Given the description of an element on the screen output the (x, y) to click on. 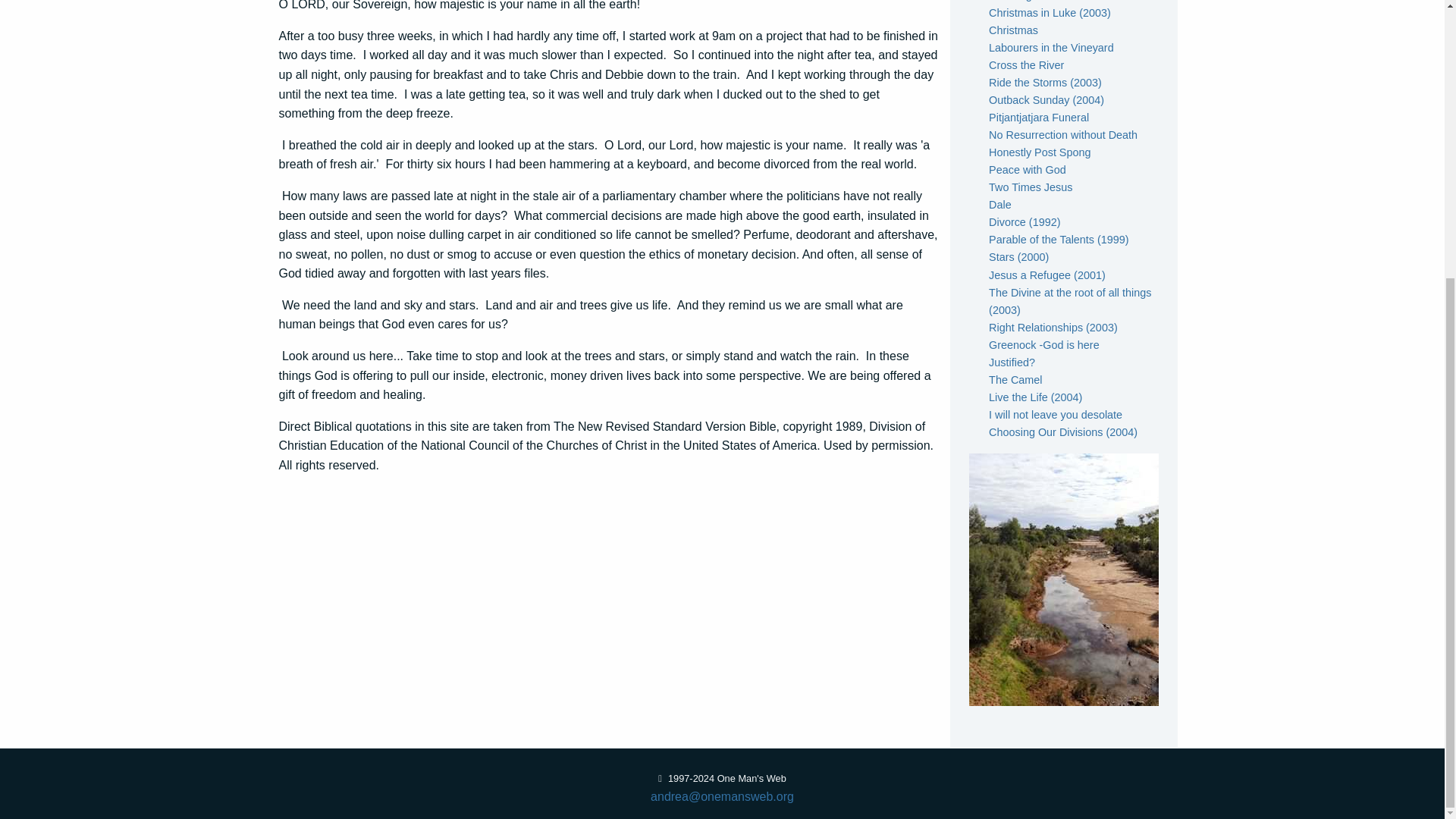
Wedding Sermon (1030, 0)
Peace with God (1026, 169)
Christmas (1013, 30)
Honestly Post Spong (1039, 152)
Labourers in the Vineyard (1050, 47)
Cross the River (1026, 64)
Dale (999, 204)
Pitjantjatjara Funeral (1038, 117)
No Resurrection without Death (1062, 134)
Two Times Jesus (1029, 186)
